Given the description of an element on the screen output the (x, y) to click on. 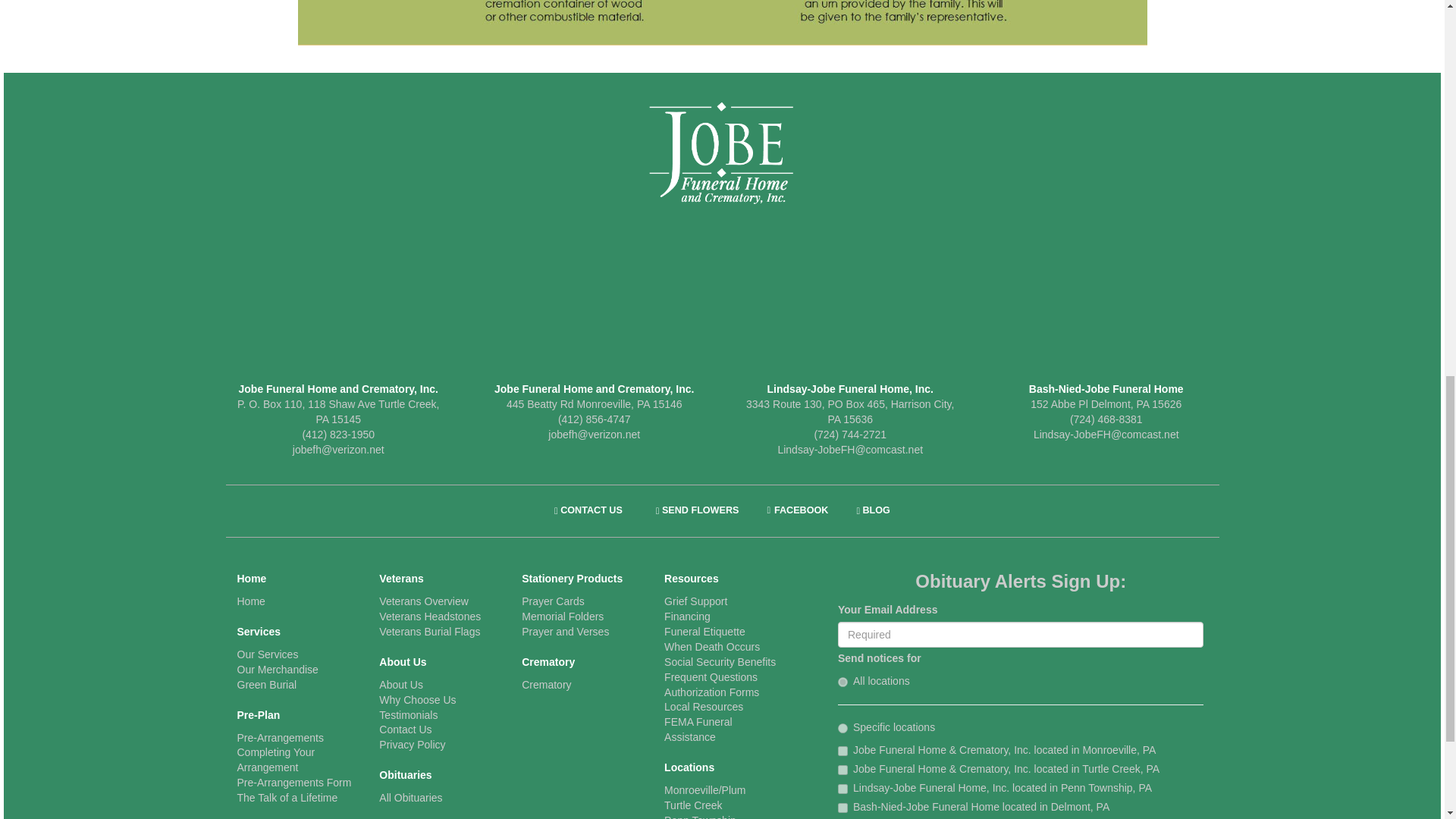
306 (842, 788)
specific (842, 728)
307 (842, 808)
304 (842, 750)
all (842, 682)
305 (842, 769)
